Given the description of an element on the screen output the (x, y) to click on. 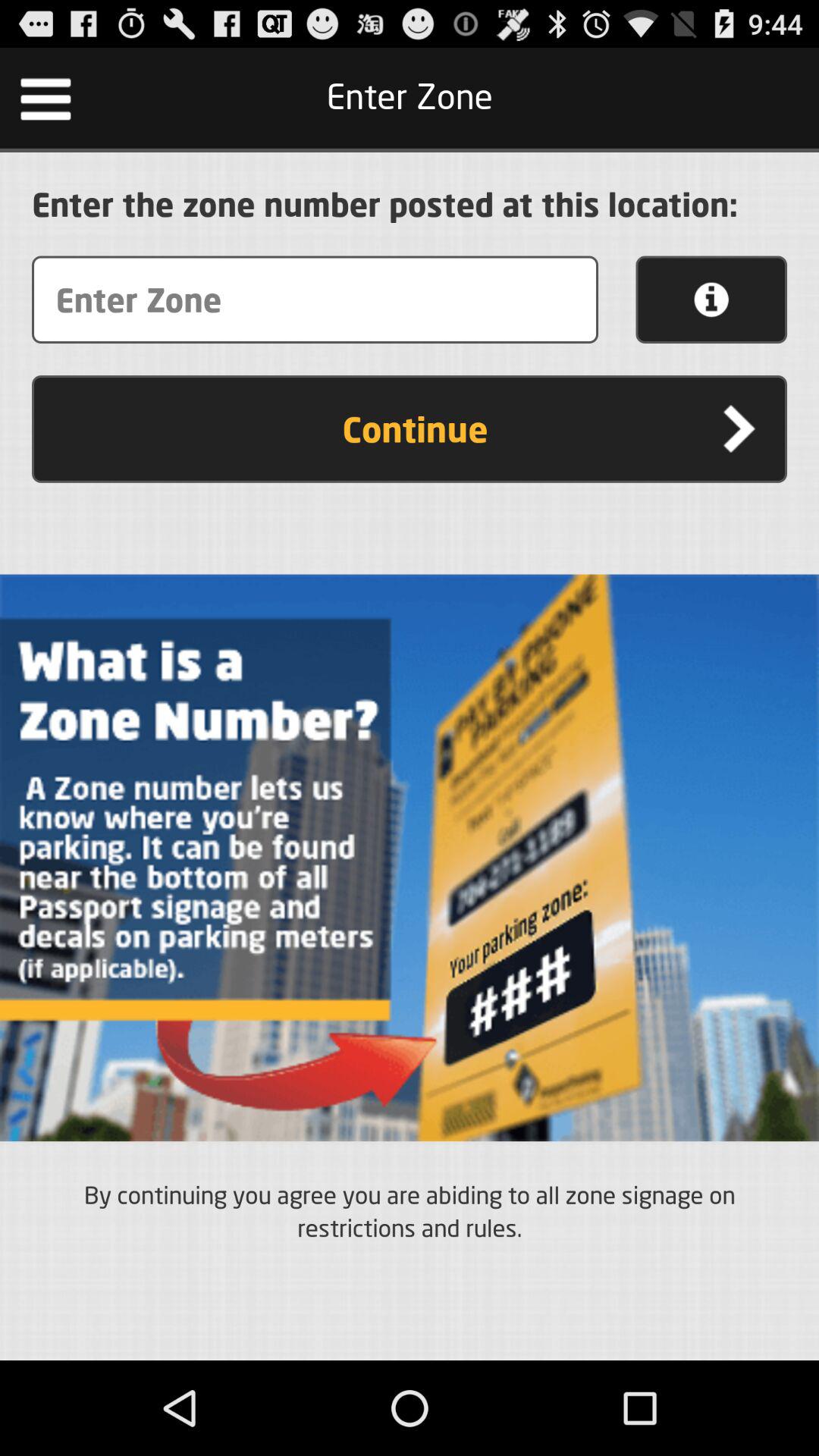
swipe until continue button (409, 428)
